Given the description of an element on the screen output the (x, y) to click on. 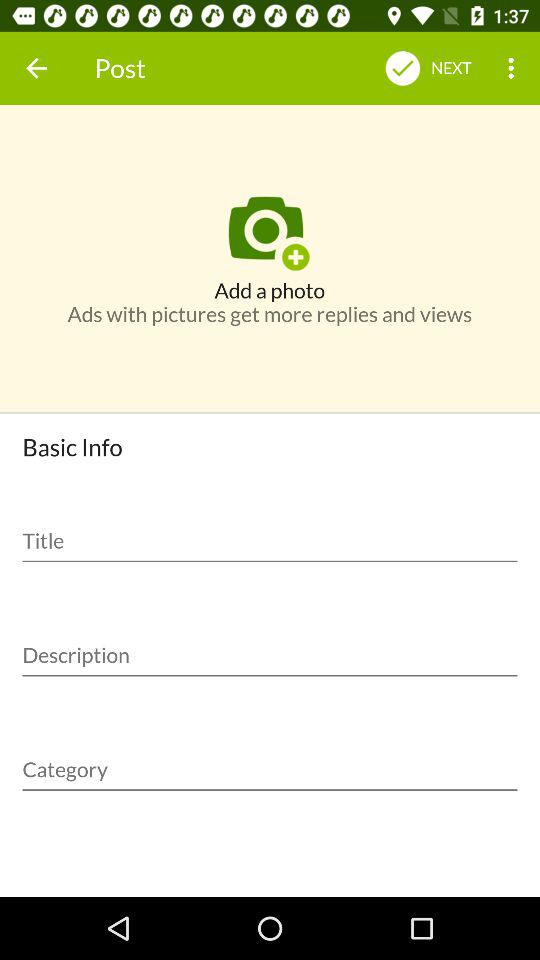
select the item next to the post (36, 68)
